Given the description of an element on the screen output the (x, y) to click on. 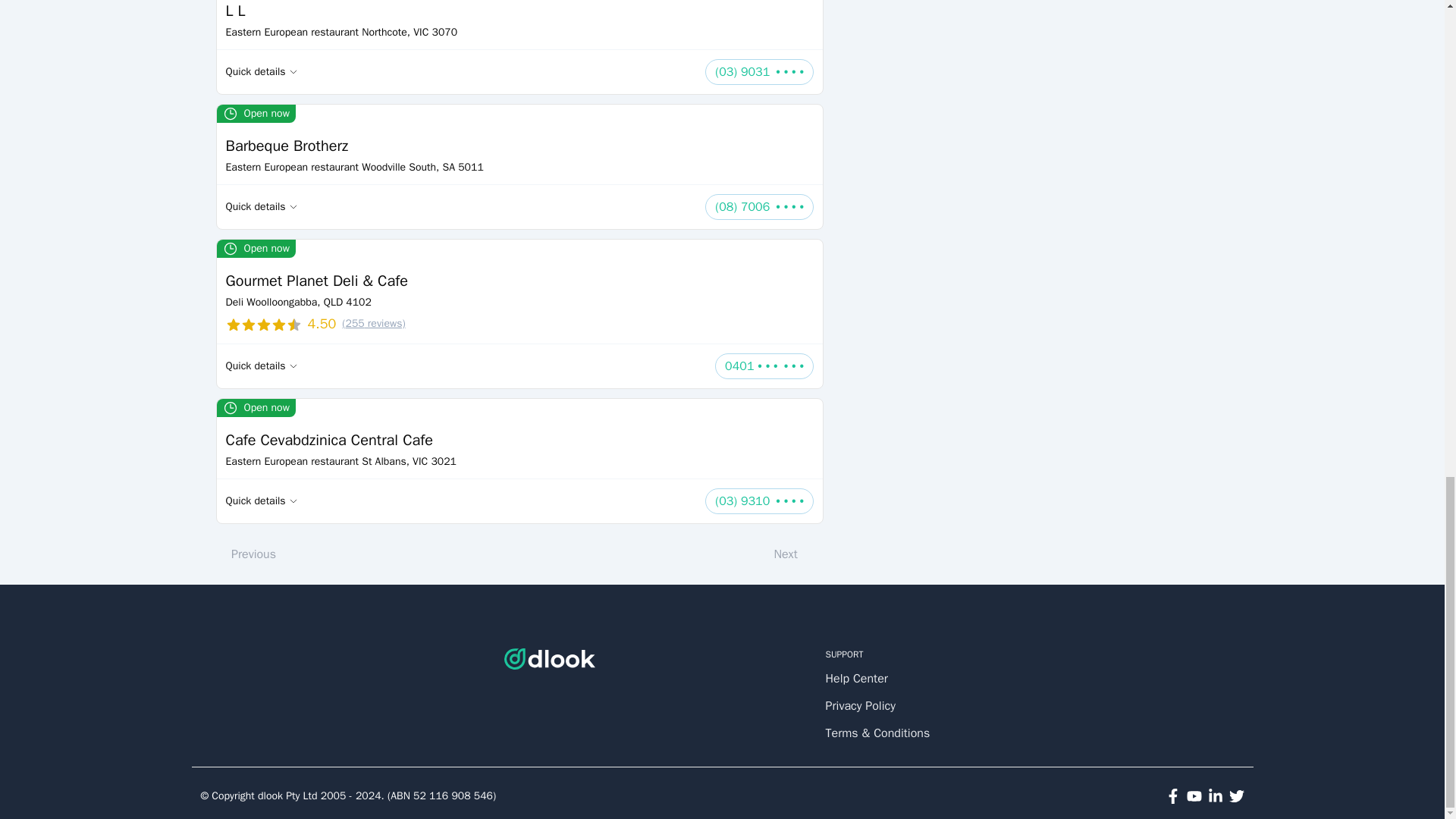
Go to dlook's LinkedIn (1215, 795)
Go to dlook's twitter (1235, 795)
Go to dlook's Facebook Page (1171, 795)
Go to dlook's Youtube (1193, 795)
